Given the description of an element on the screen output the (x, y) to click on. 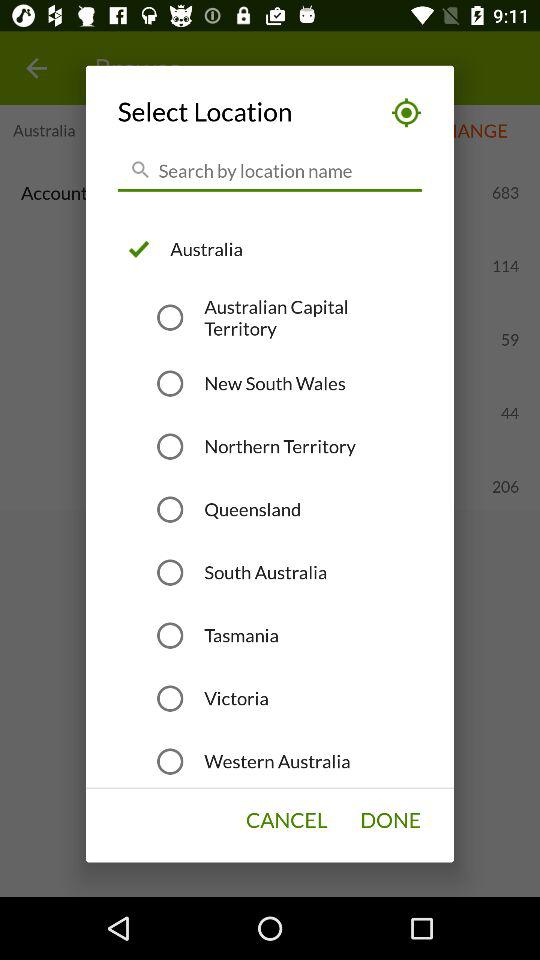
turn on the icon above tasmania (265, 572)
